Given the description of an element on the screen output the (x, y) to click on. 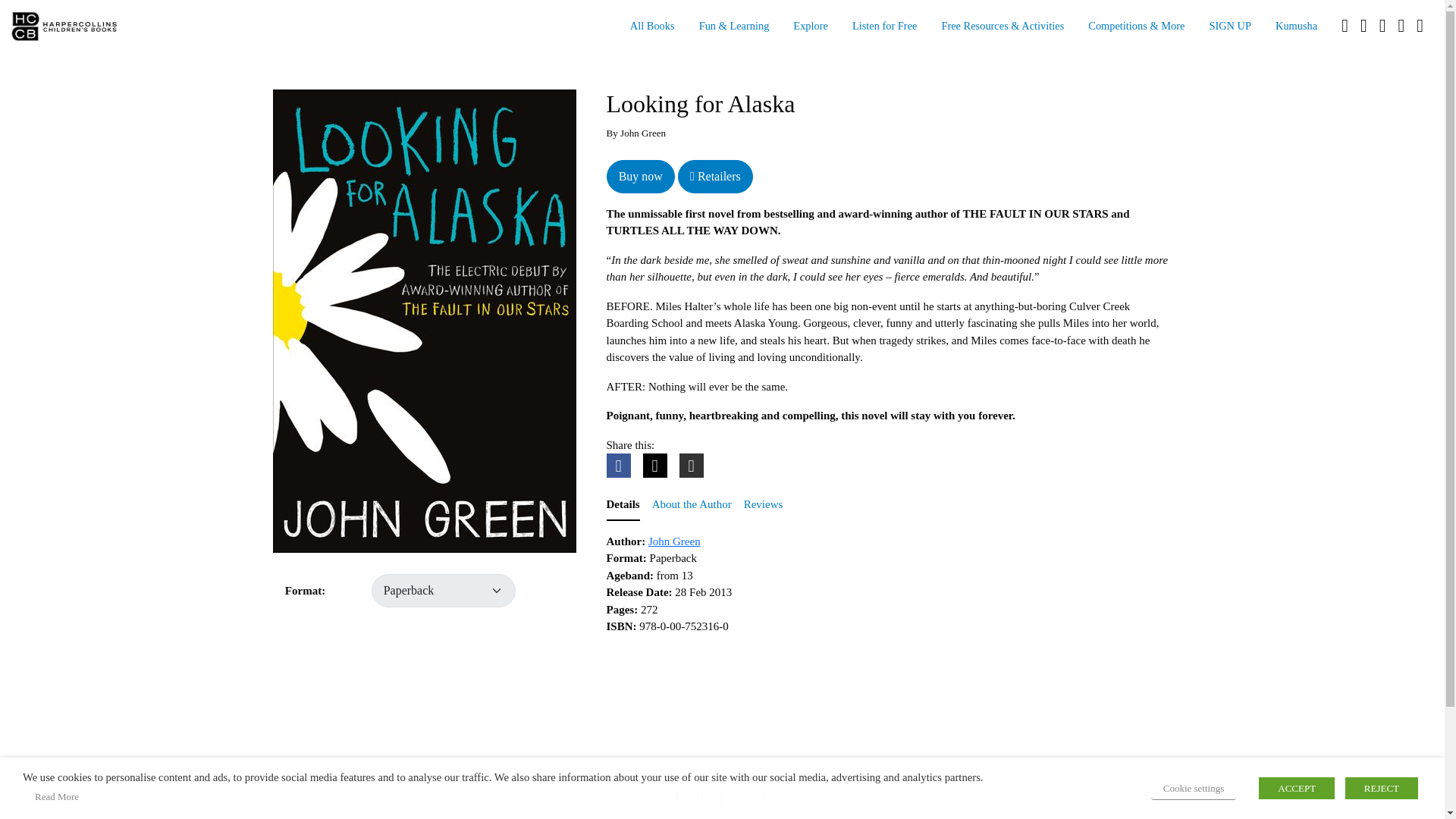
Reviews (763, 504)
Retailers (715, 175)
Explore (810, 26)
Kumusha (1296, 26)
All Books (652, 26)
About the Author (692, 504)
Listen for Free (885, 26)
SIGN UP (1229, 26)
John Green (673, 541)
Buy now (641, 175)
Details (623, 504)
